Given the description of an element on the screen output the (x, y) to click on. 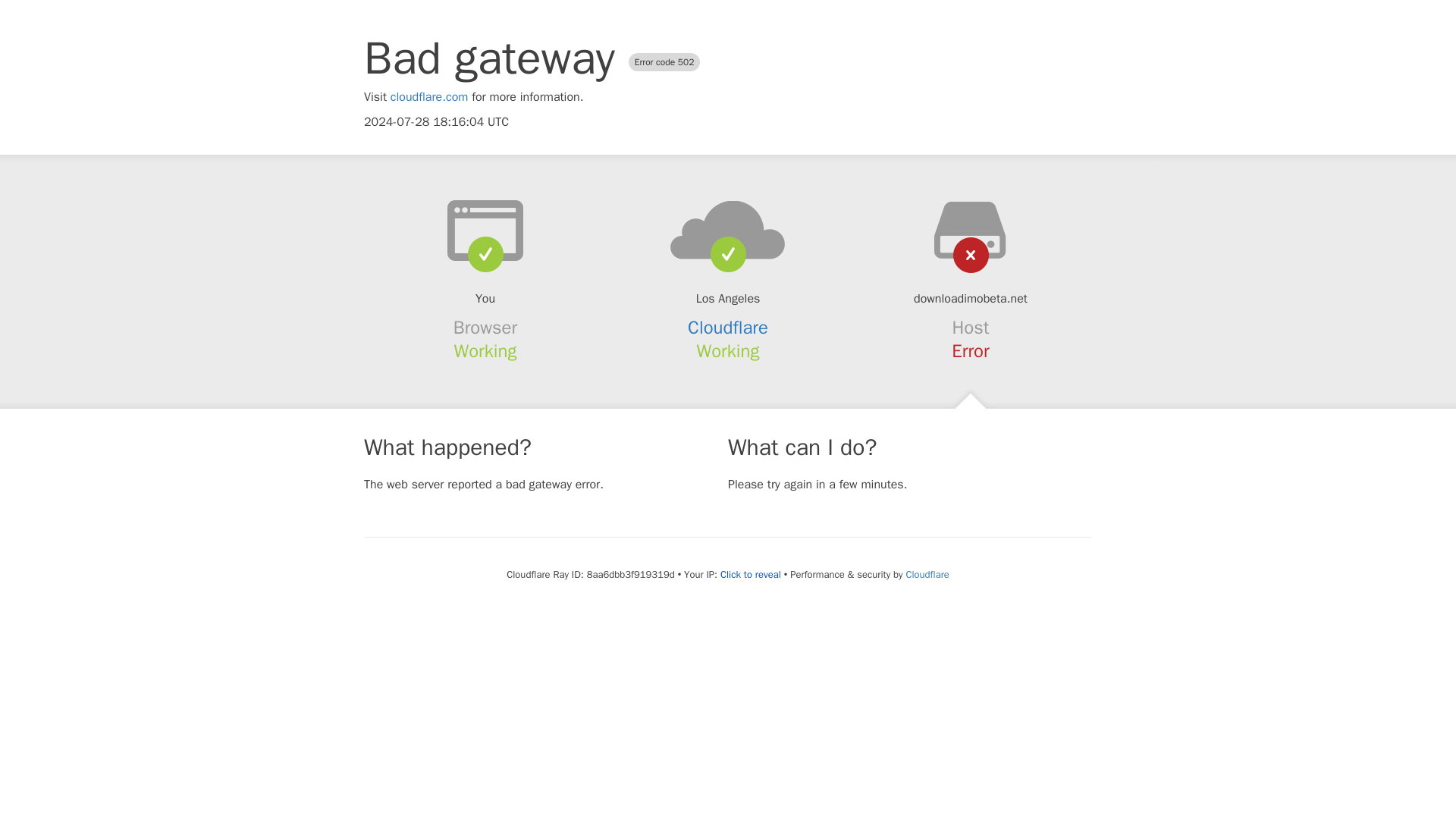
Click to reveal (750, 574)
cloudflare.com (429, 96)
Cloudflare (927, 574)
Cloudflare (727, 327)
